Given the description of an element on the screen output the (x, y) to click on. 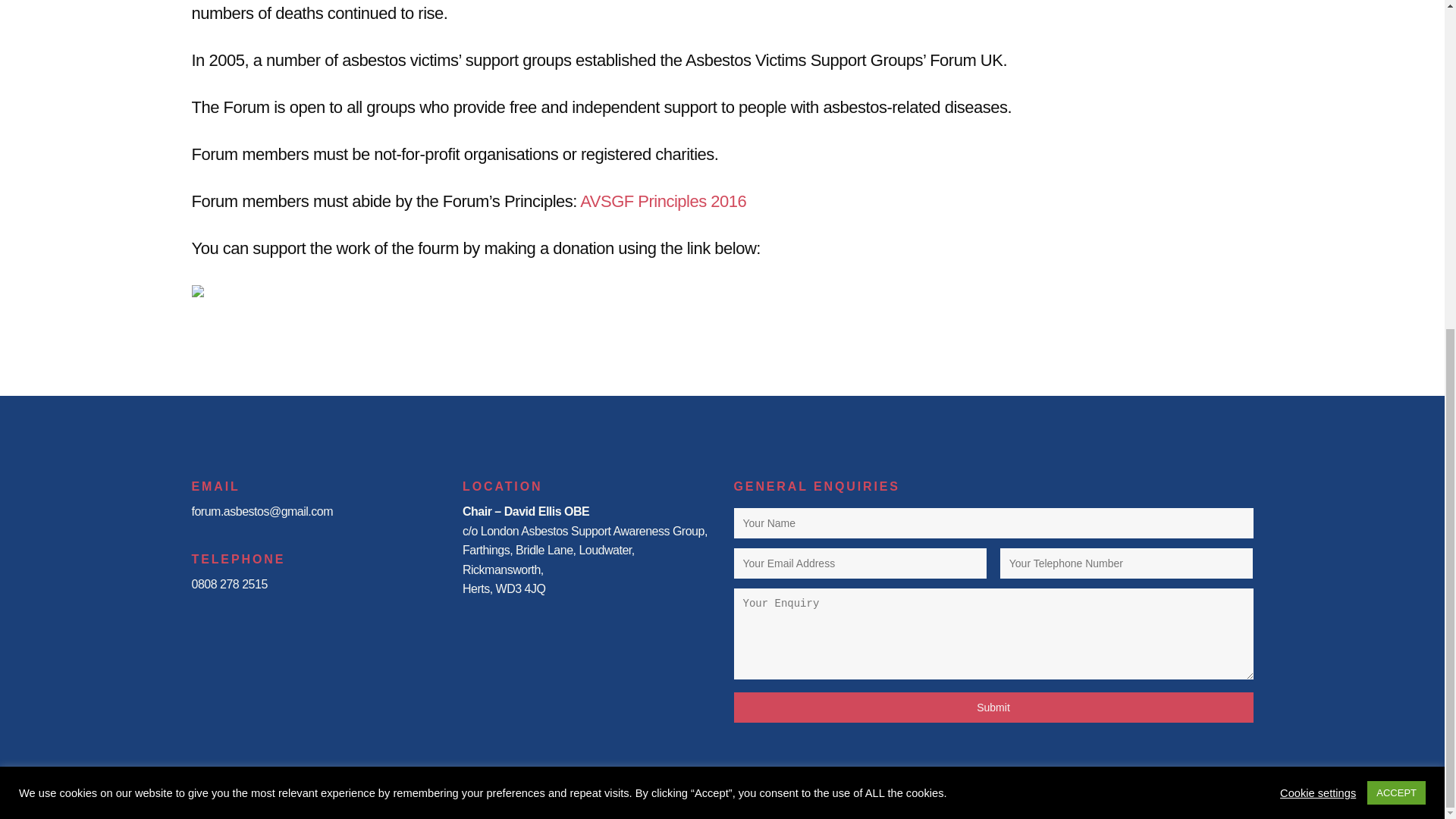
Privacy Policy (1141, 776)
Submit (993, 707)
AVSGF Principles 2016 (662, 200)
ACCEPT (1396, 248)
Cookie settings (1317, 247)
Submit (993, 707)
